Given the description of an element on the screen output the (x, y) to click on. 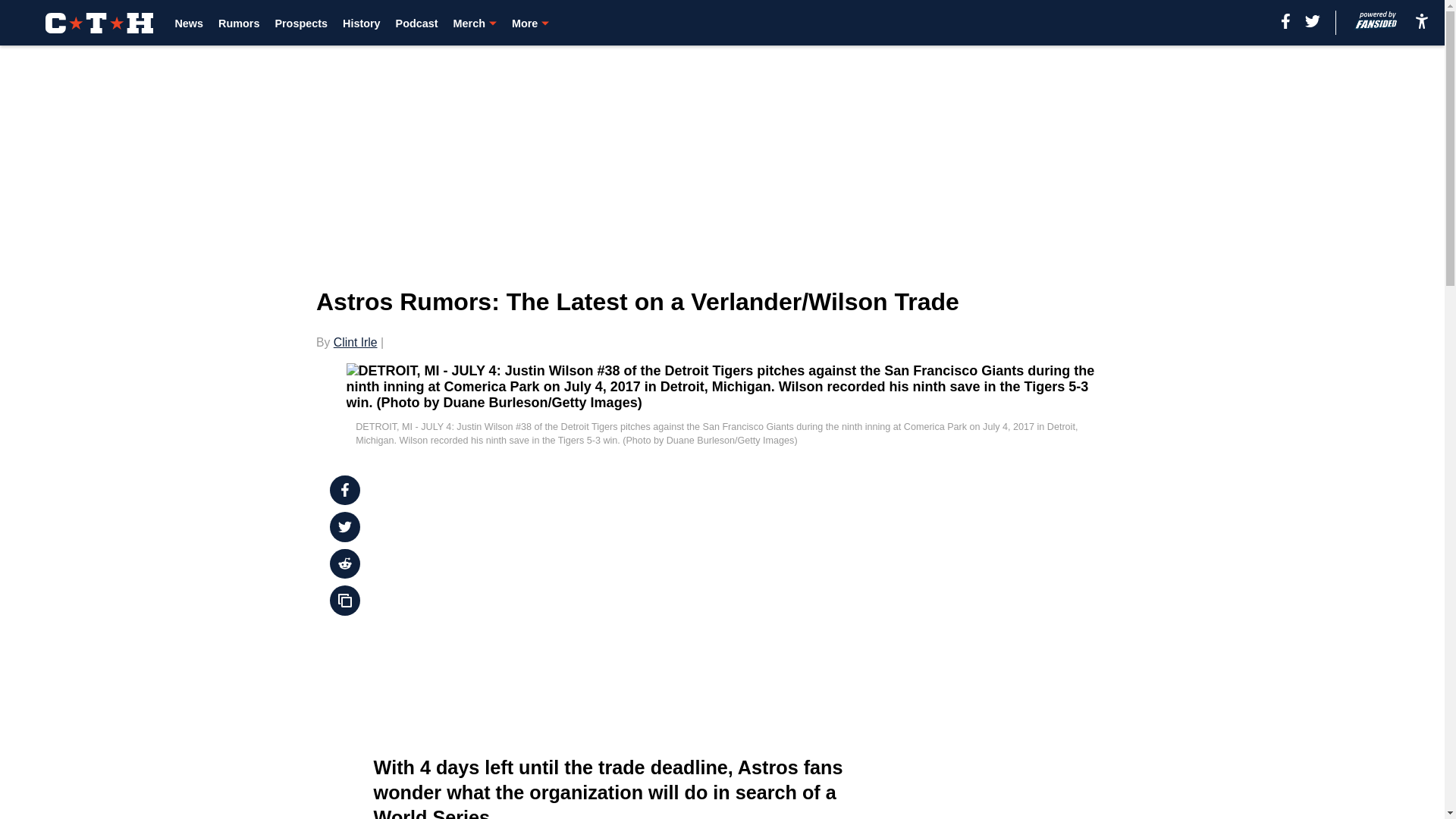
Rumors (238, 23)
Podcast (417, 23)
Prospects (301, 23)
News (188, 23)
Clint Irle (355, 341)
History (361, 23)
